Given the description of an element on the screen output the (x, y) to click on. 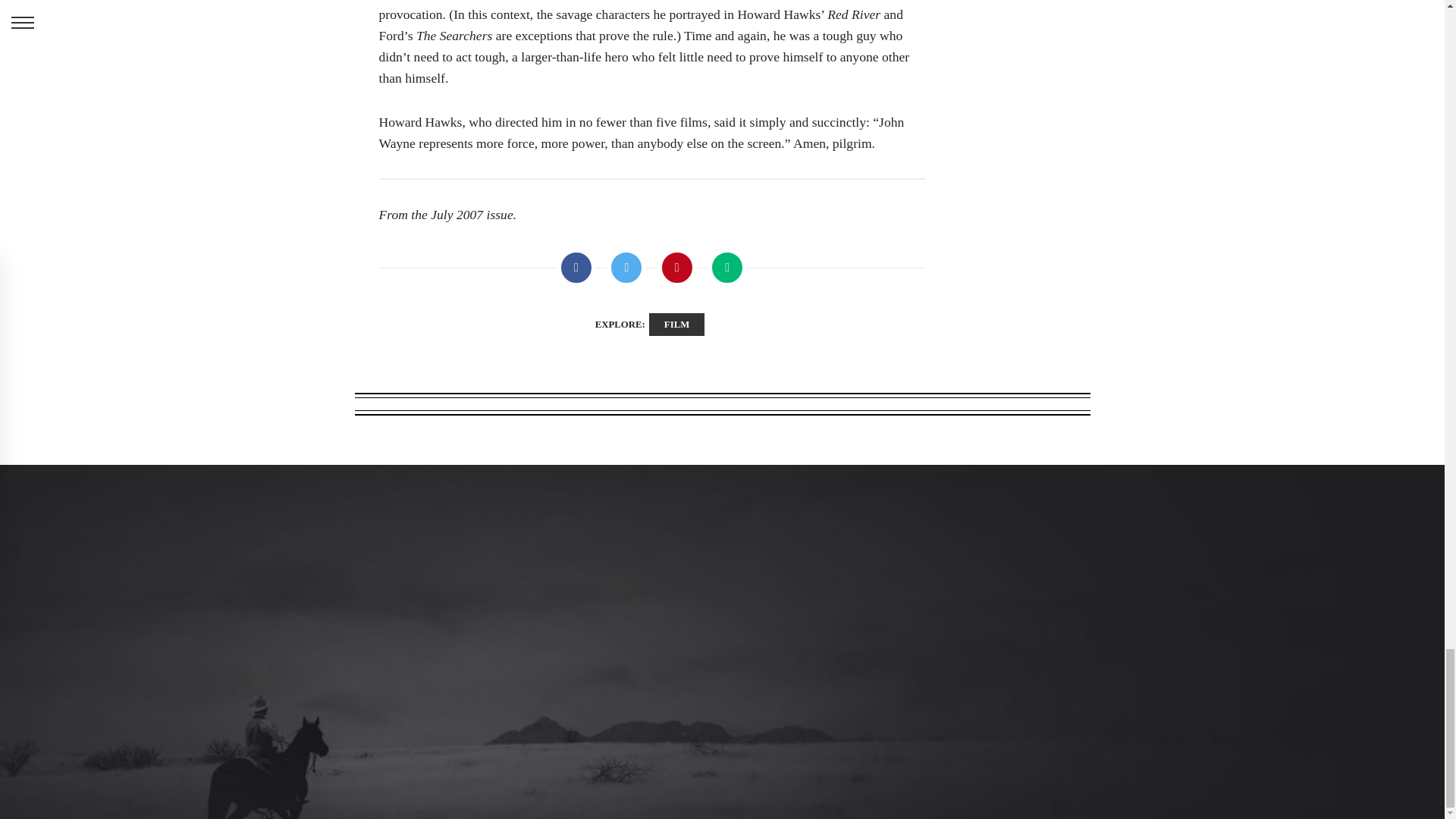
Tweet This Post (626, 267)
Share on Facebook (576, 267)
Share by Email (726, 267)
